Given the description of an element on the screen output the (x, y) to click on. 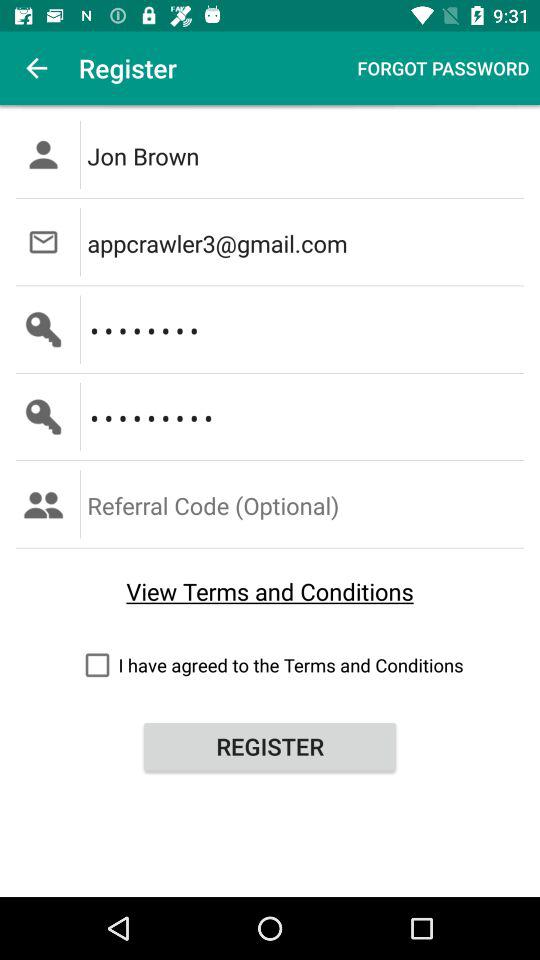
open icon next to register icon (443, 67)
